Given the description of an element on the screen output the (x, y) to click on. 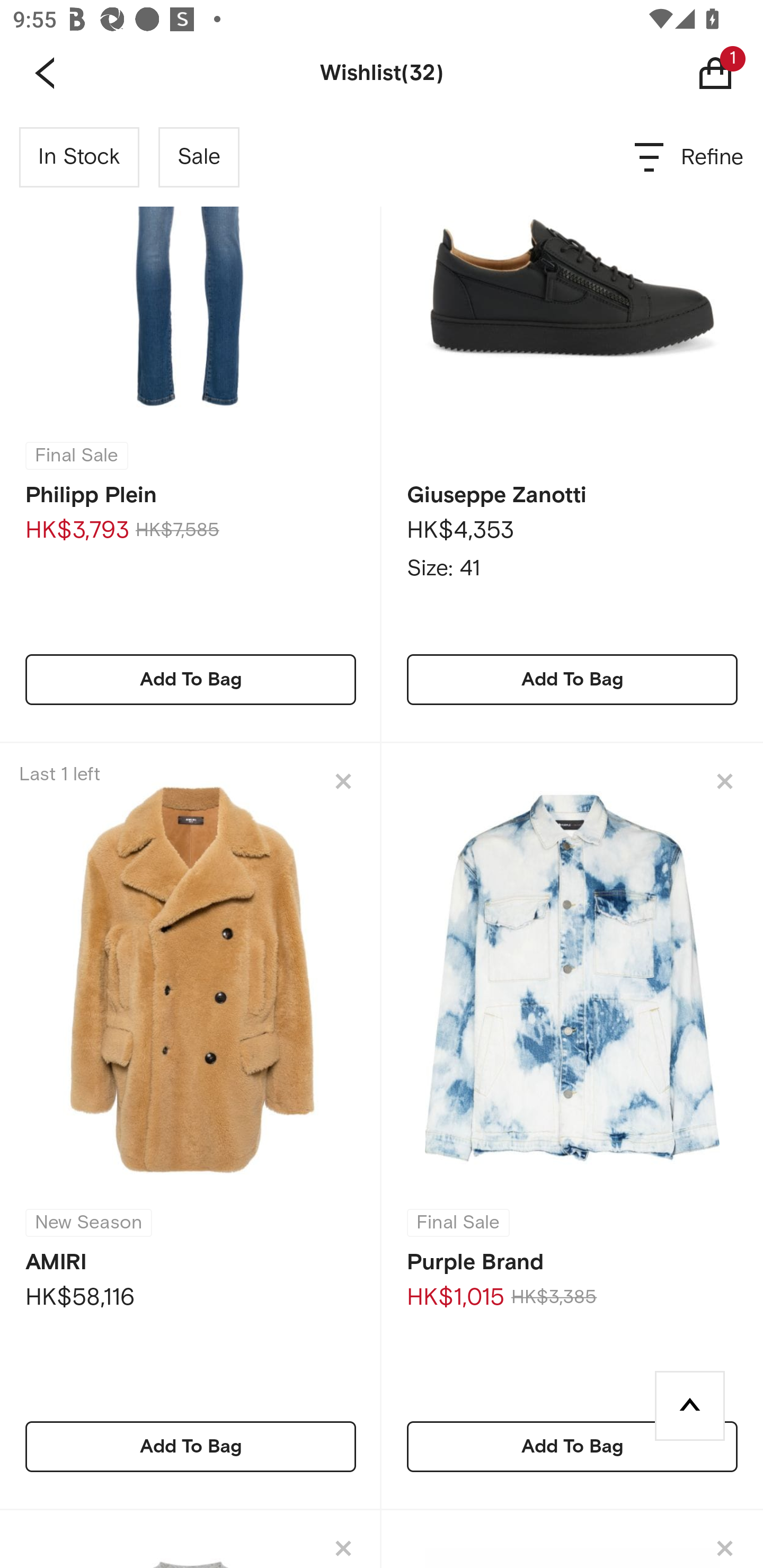
1 (729, 72)
Giuseppe Zanotti HK$4,353 Size: 41 Add To Bag (572, 425)
In Stock (79, 157)
Sale (198, 157)
Refine (690, 157)
Add To Bag (190, 679)
Add To Bag (571, 679)
Last 1 left New Season AMIRI HK$58,116 Add To Bag (190, 1126)
Add To Bag (190, 1446)
Add To Bag (571, 1446)
